Given the description of an element on the screen output the (x, y) to click on. 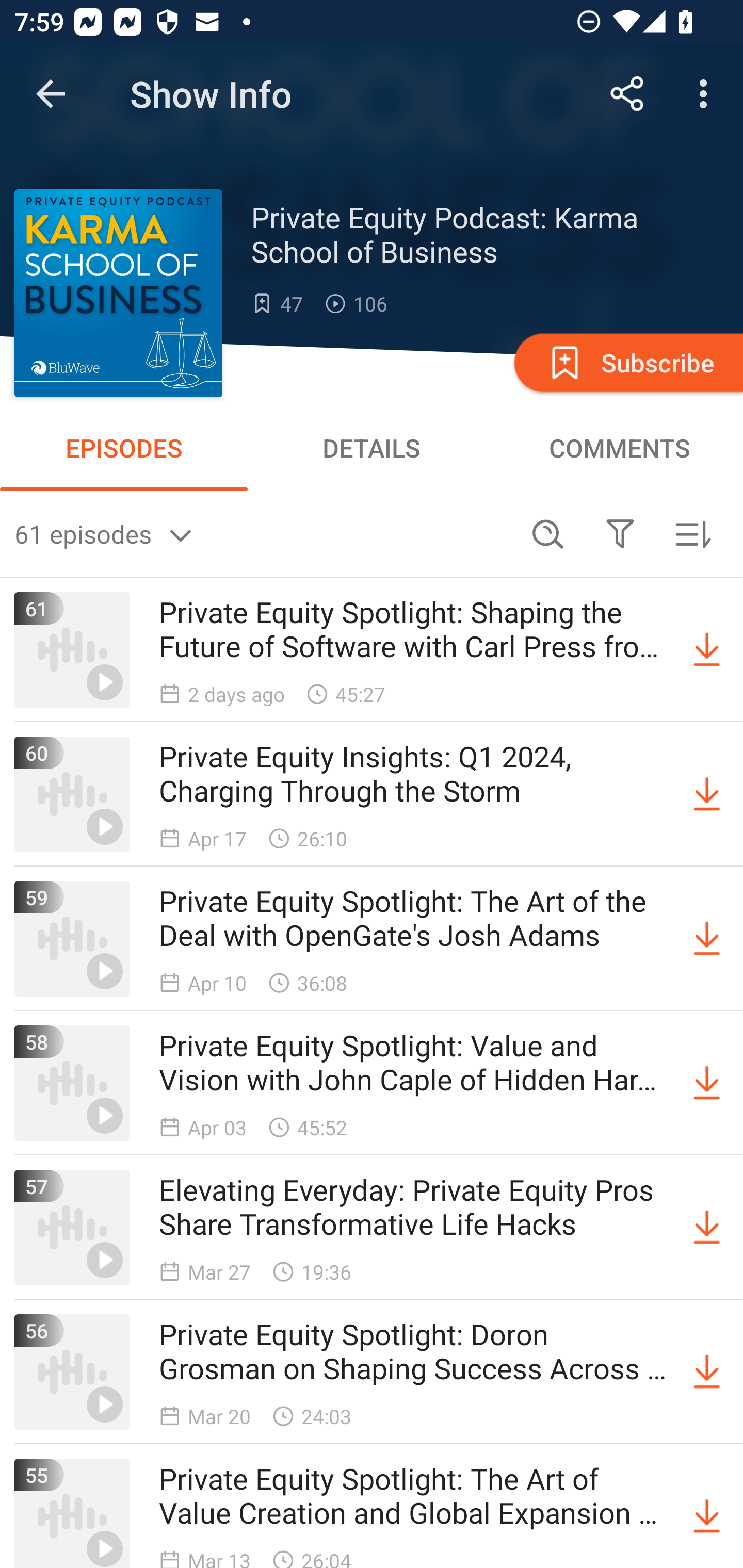
Navigate up (50, 93)
Share (626, 93)
More options (706, 93)
Subscribe (627, 361)
EPISODES (123, 447)
DETAILS (371, 447)
COMMENTS (619, 447)
61 episodes  (262, 533)
 Search (547, 533)
 (619, 533)
 Sorted by newest first (692, 533)
Download (706, 649)
Download (706, 793)
